Given the description of an element on the screen output the (x, y) to click on. 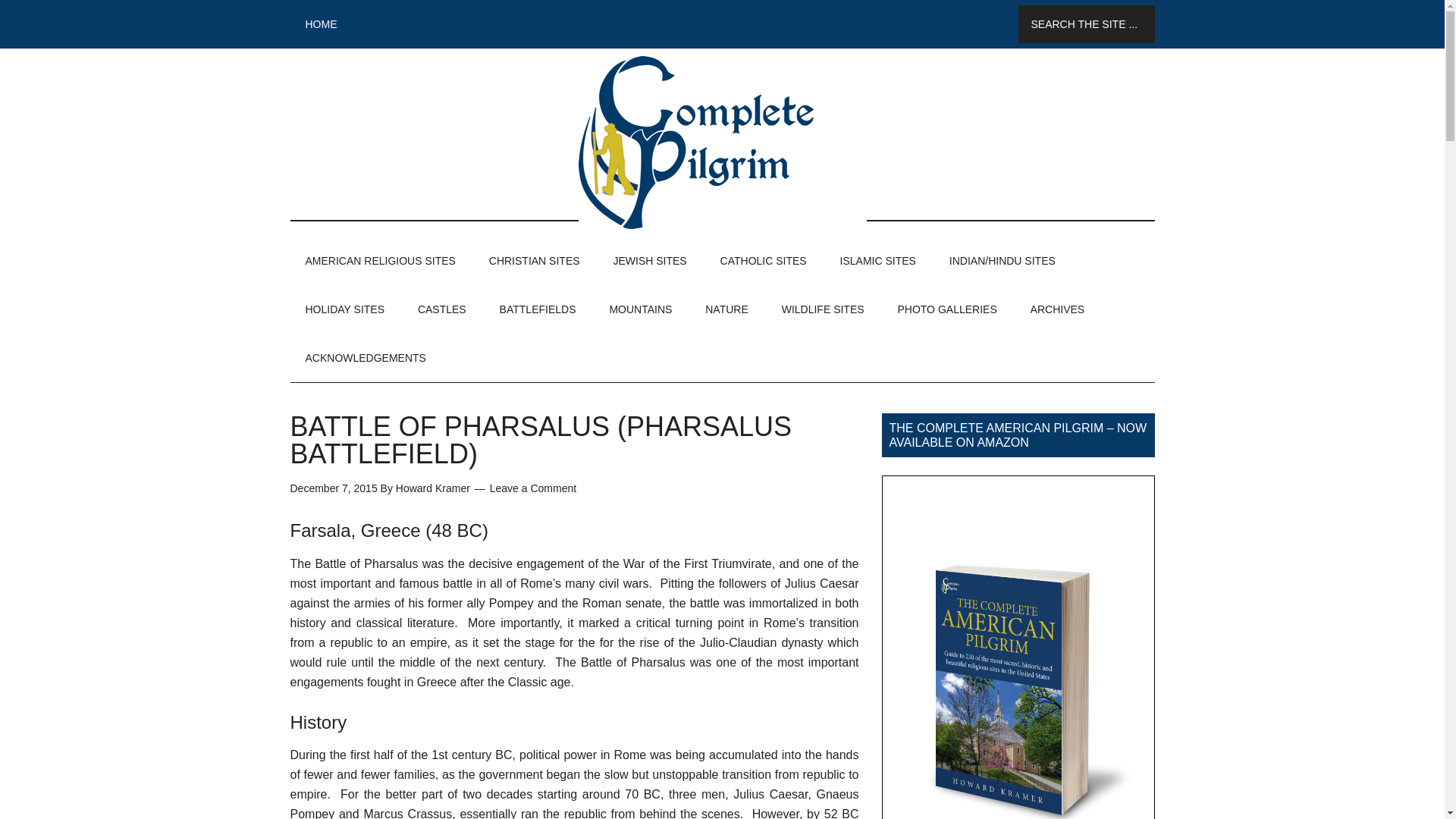
PHOTO GALLERIES (946, 309)
CATHOLIC SITES (763, 260)
ACKNOWLEDGEMENTS (365, 357)
CASTLES (442, 309)
ISLAMIC SITES (878, 260)
MOUNTAINS (640, 309)
Leave a Comment (532, 488)
AMERICAN RELIGIOUS SITES (379, 260)
ARCHIVES (1057, 309)
CHRISTIAN SITES (534, 260)
WILDLIFE SITES (823, 309)
NATURE (726, 309)
